Given the description of an element on the screen output the (x, y) to click on. 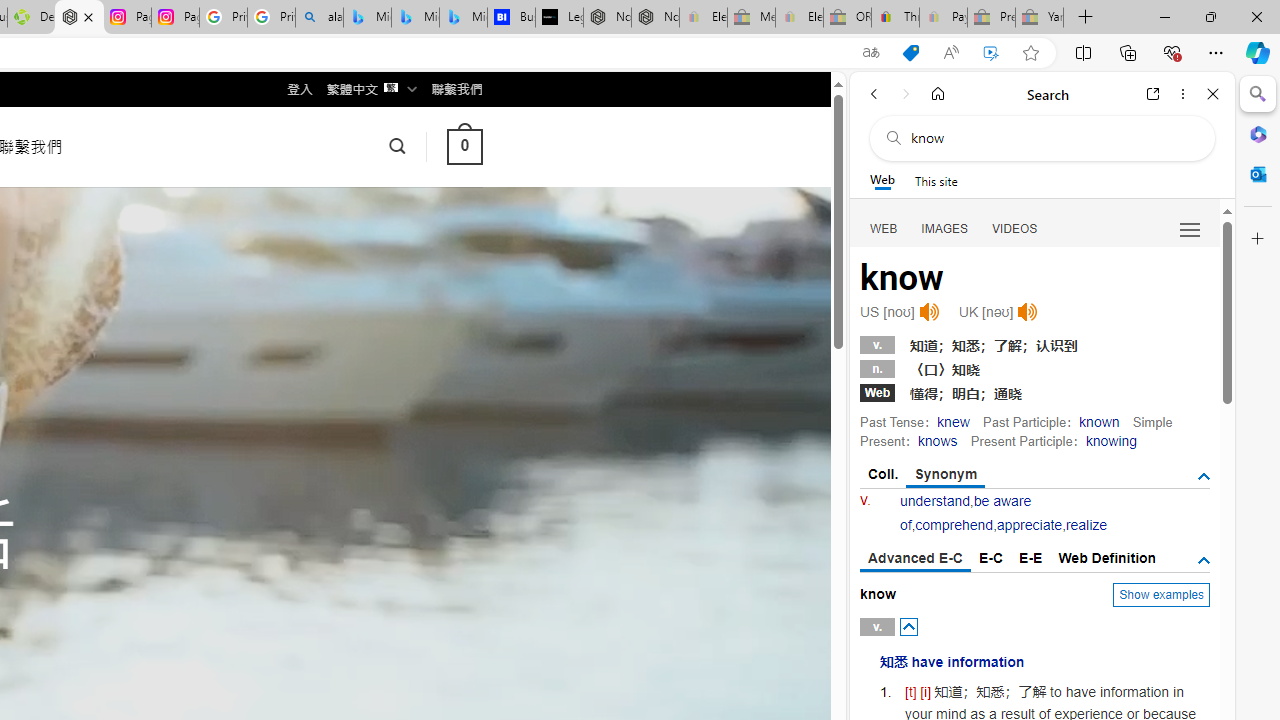
Synonym (945, 475)
Advanced E-C (915, 559)
Web scope (882, 180)
Microsoft Bing Travel - Flights from Hong Kong to Bangkok (367, 17)
E-E (1030, 557)
